Given the description of an element on the screen output the (x, y) to click on. 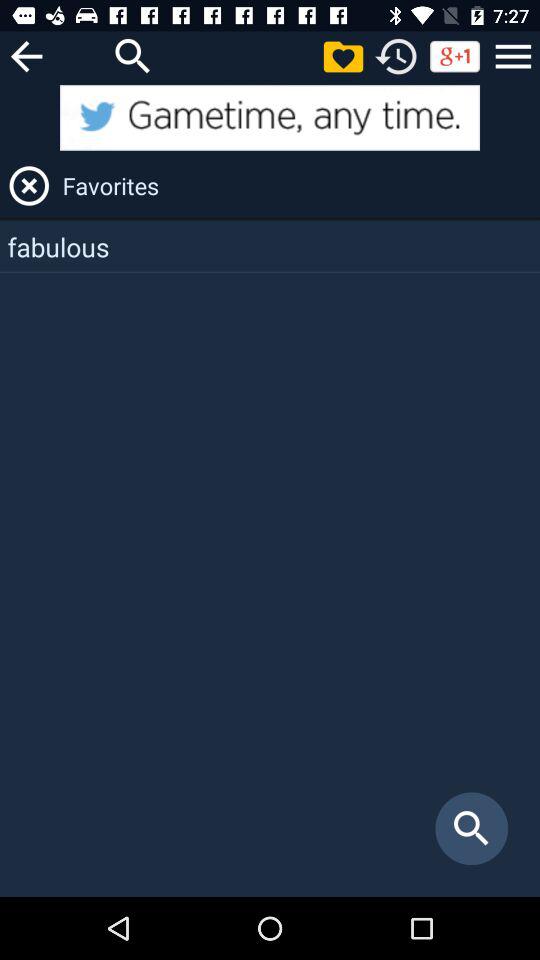
refresh page option (396, 56)
